Given the description of an element on the screen output the (x, y) to click on. 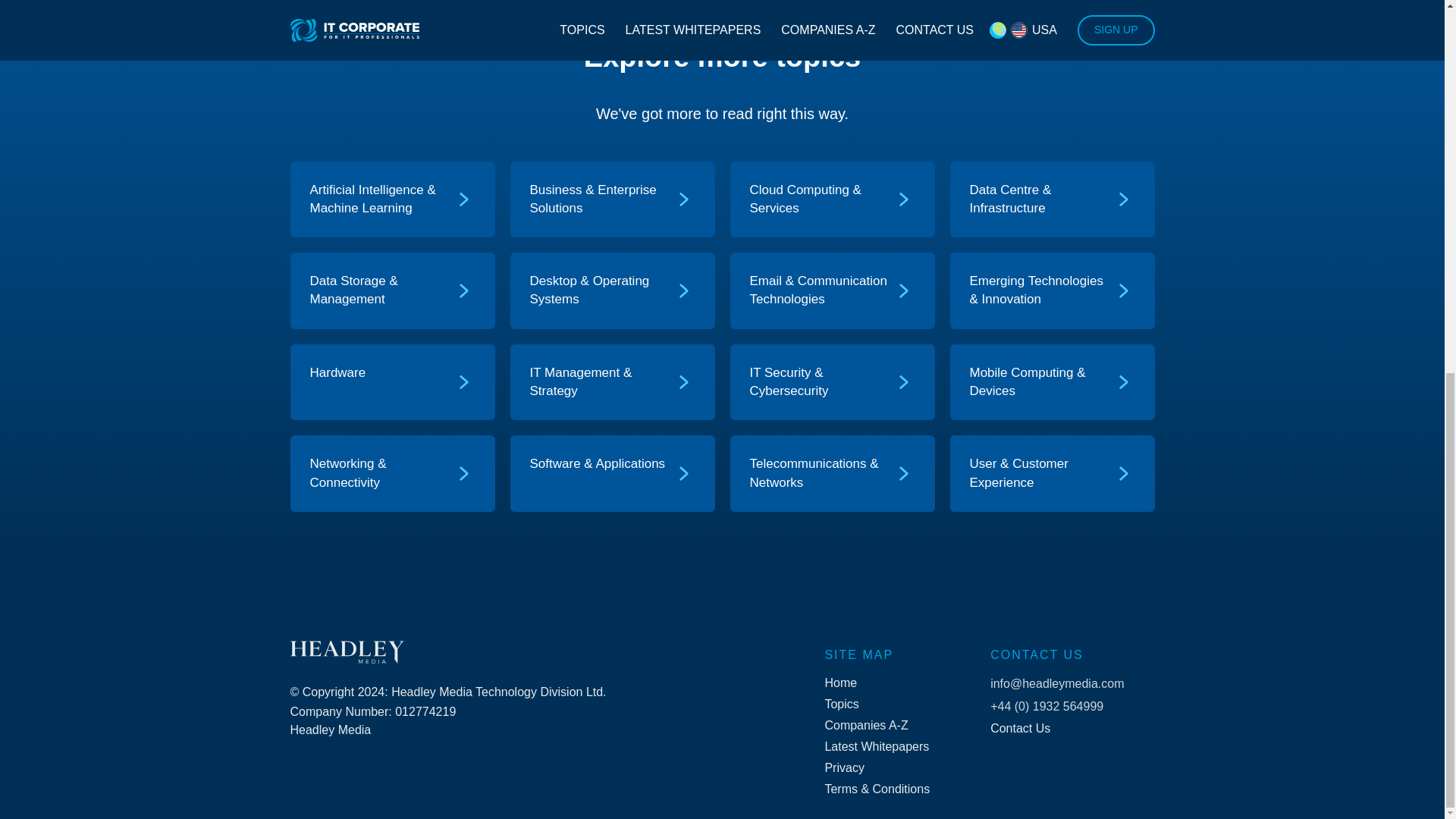
Hardware (381, 382)
